Given the description of an element on the screen output the (x, y) to click on. 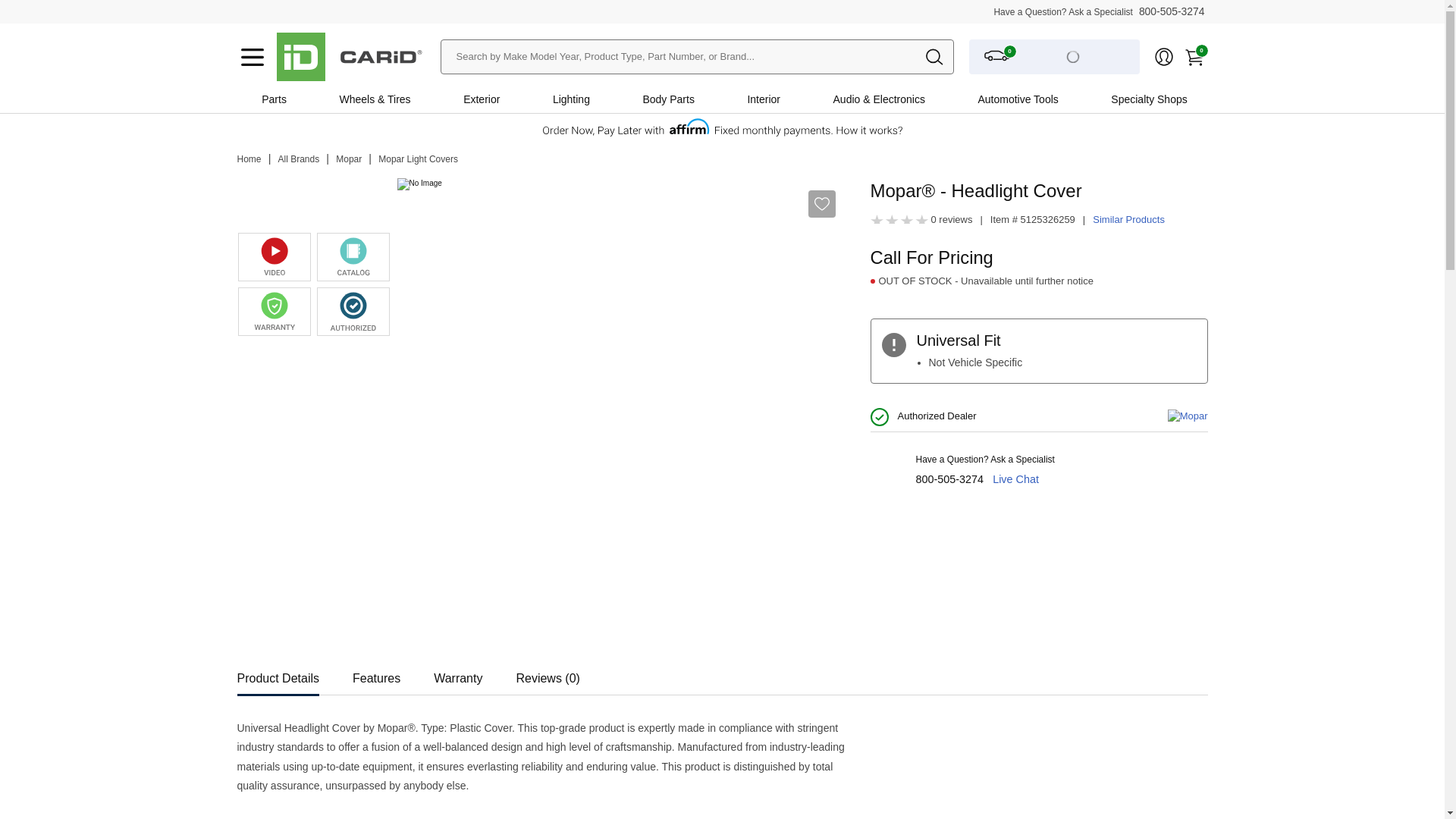
Warranty (457, 673)
800-505-3274 (1171, 11)
Mopar Authorized Dealer (353, 311)
No Image (274, 202)
Automotive Tools (1017, 99)
Exterior (480, 99)
CAR ID (300, 56)
Product Details (276, 673)
800-505-3274 (949, 478)
Parts (273, 99)
Lighting (570, 99)
All Brands (299, 158)
Mopar (348, 158)
Interior (763, 99)
Tires (398, 99)
